Given the description of an element on the screen output the (x, y) to click on. 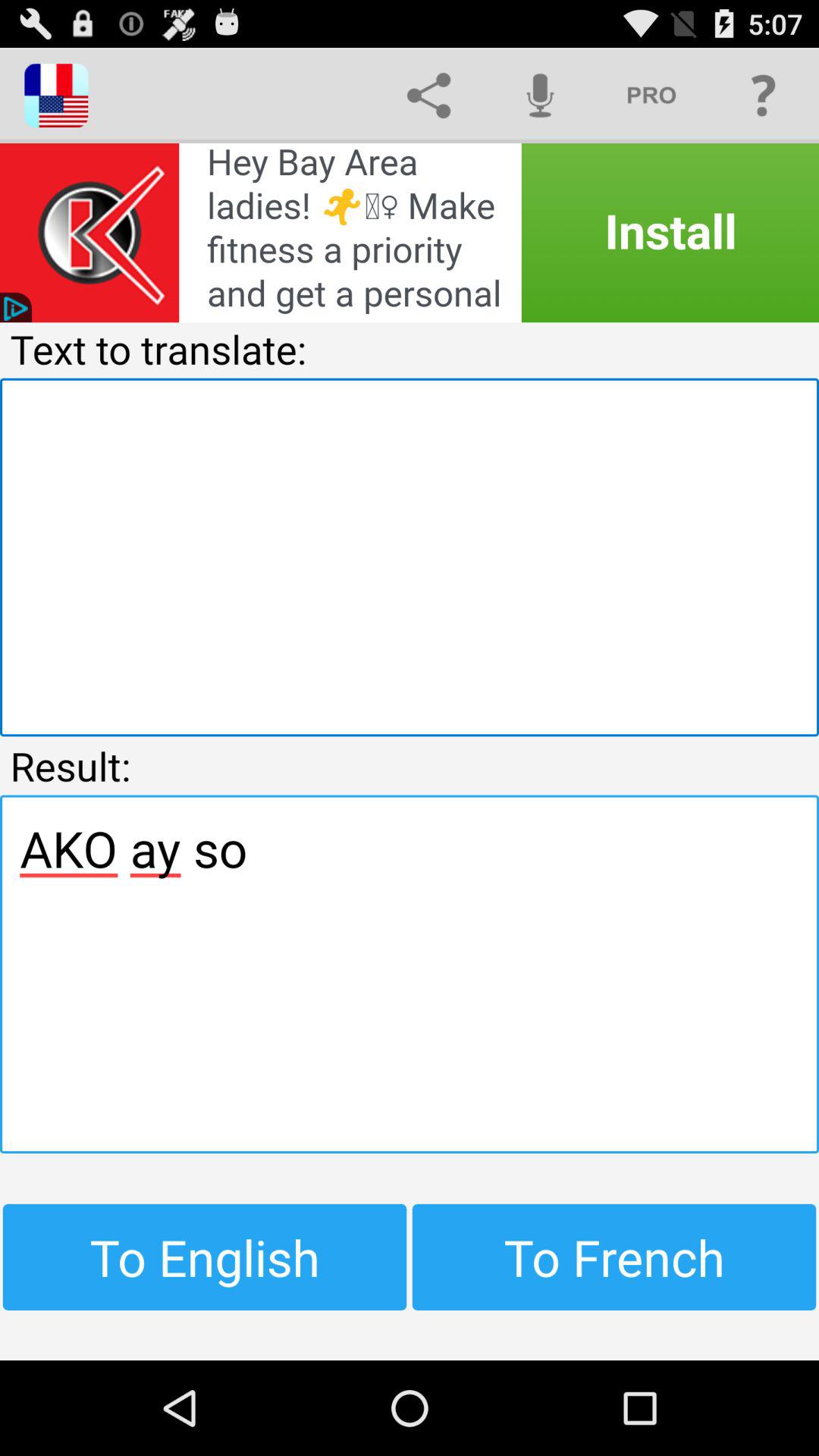
enter text to translate (409, 557)
